Given the description of an element on the screen output the (x, y) to click on. 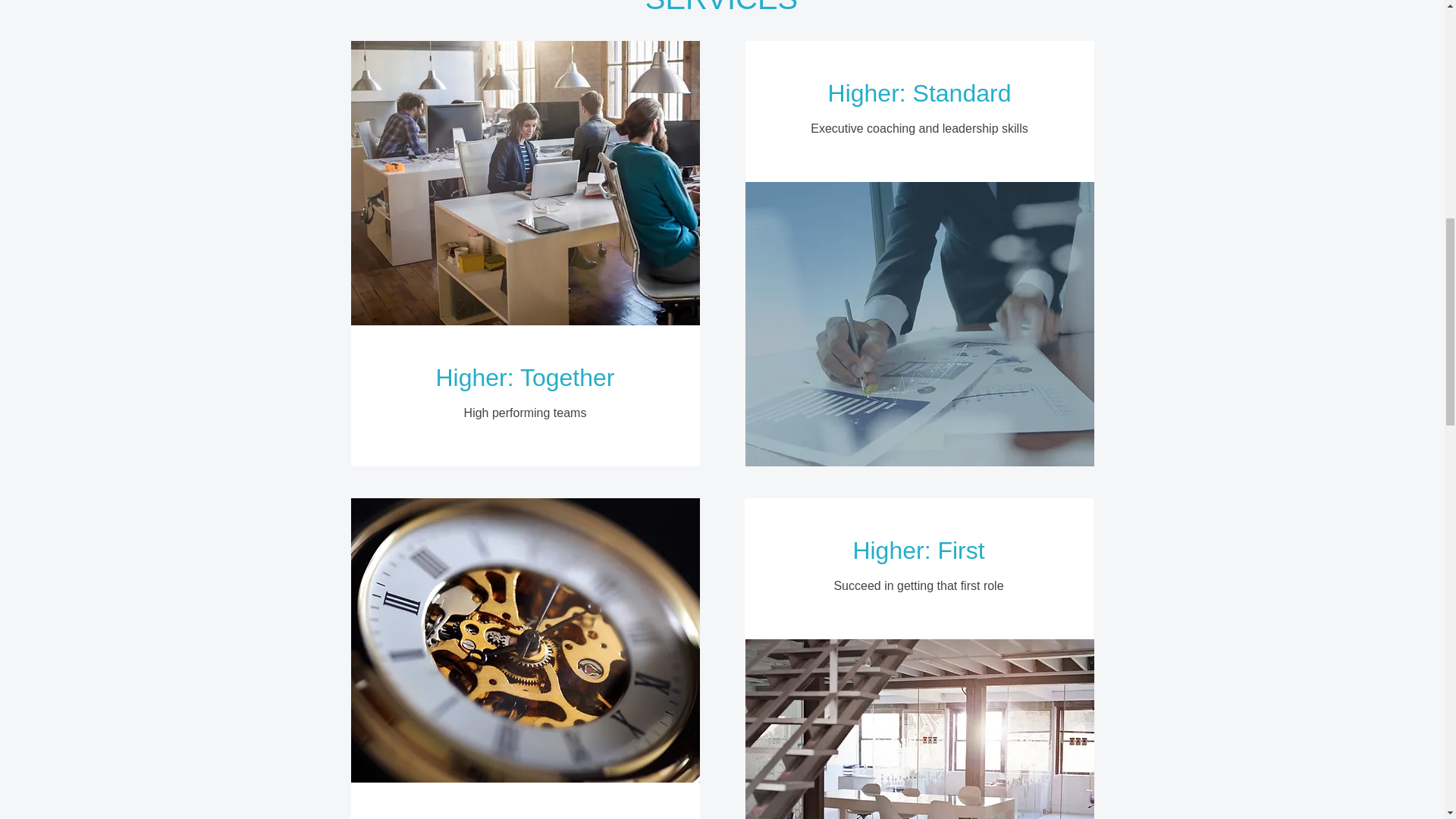
Higher: First (917, 550)
Higher: Standard (919, 93)
Higher: Together (524, 377)
